Given the description of an element on the screen output the (x, y) to click on. 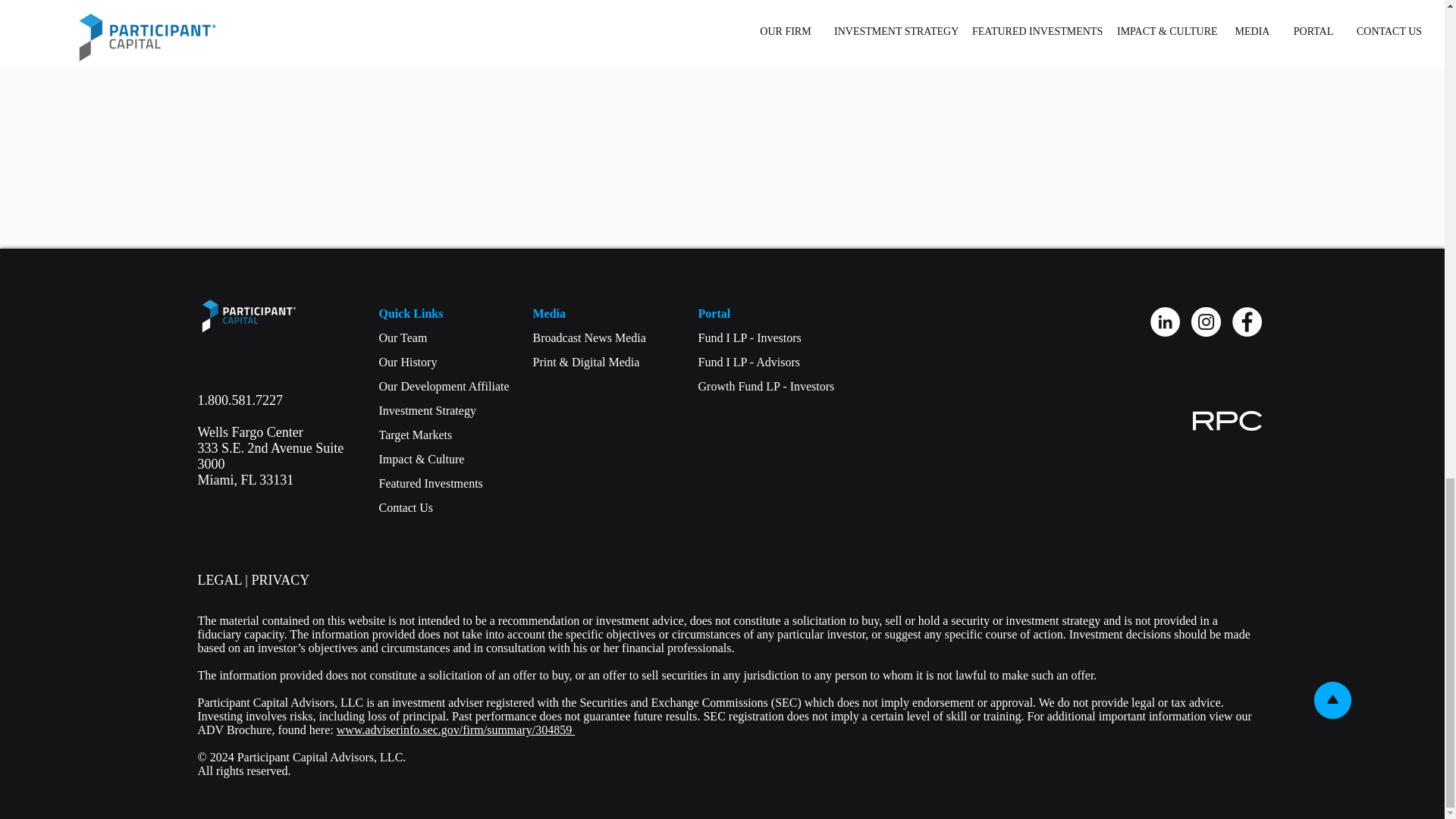
Our History (408, 361)
Our Team (403, 337)
Our Development Affiliate (443, 386)
Featured Investments (249, 416)
Investment Strategy (430, 482)
LEGAL (427, 410)
Contact Us (218, 580)
Fund I LP - Investors (405, 507)
Broadcast News Media (748, 337)
Growth Fund LP - Investors (588, 337)
Fund I LP - Advisors (765, 386)
PRIVACY (748, 361)
Target Markets (279, 580)
